Given the description of an element on the screen output the (x, y) to click on. 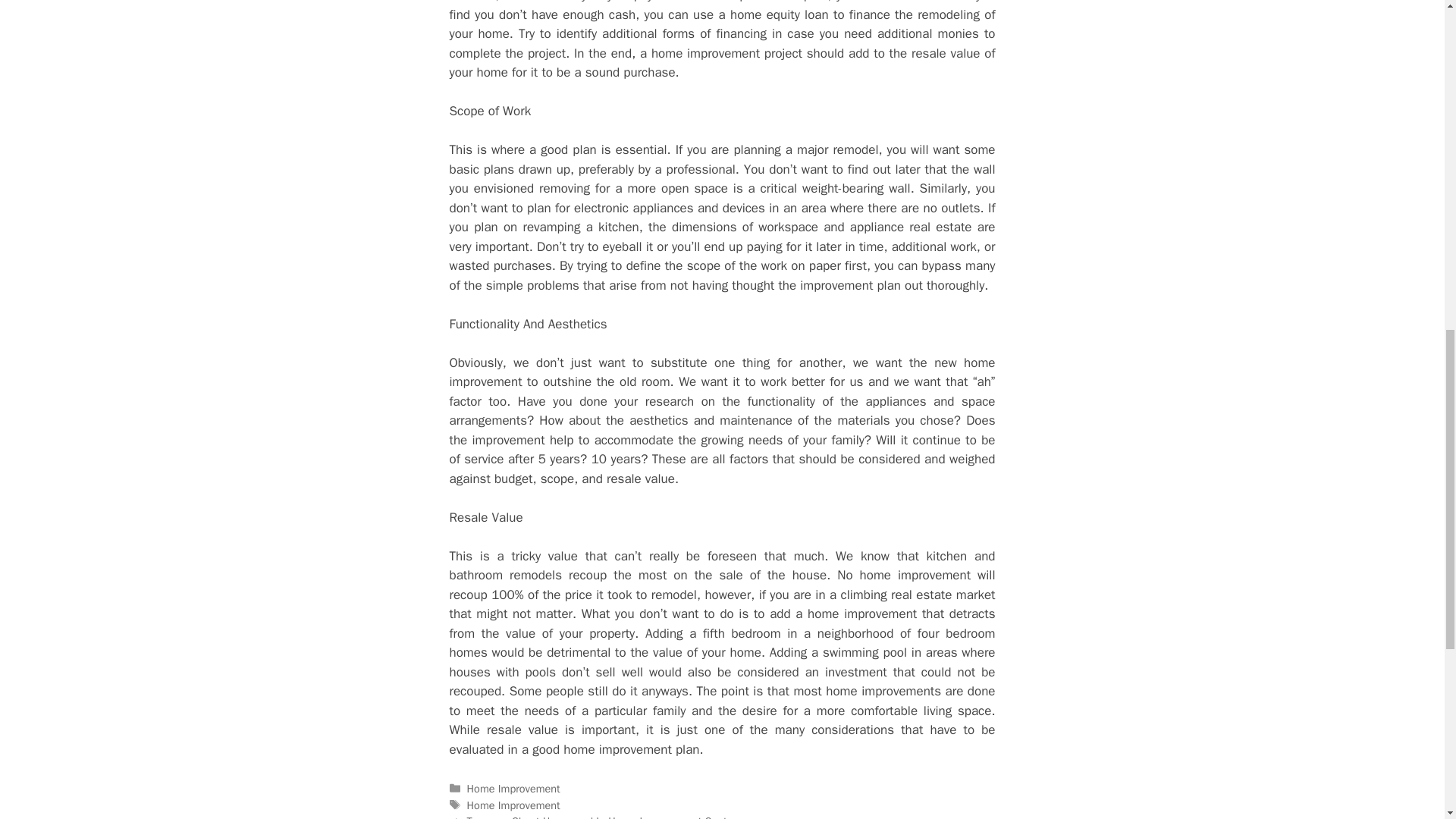
Home Improvement (513, 788)
Treasure Chest Uncovered In Home Improvement Center (601, 816)
Home Improvement (513, 805)
